Given the description of an element on the screen output the (x, y) to click on. 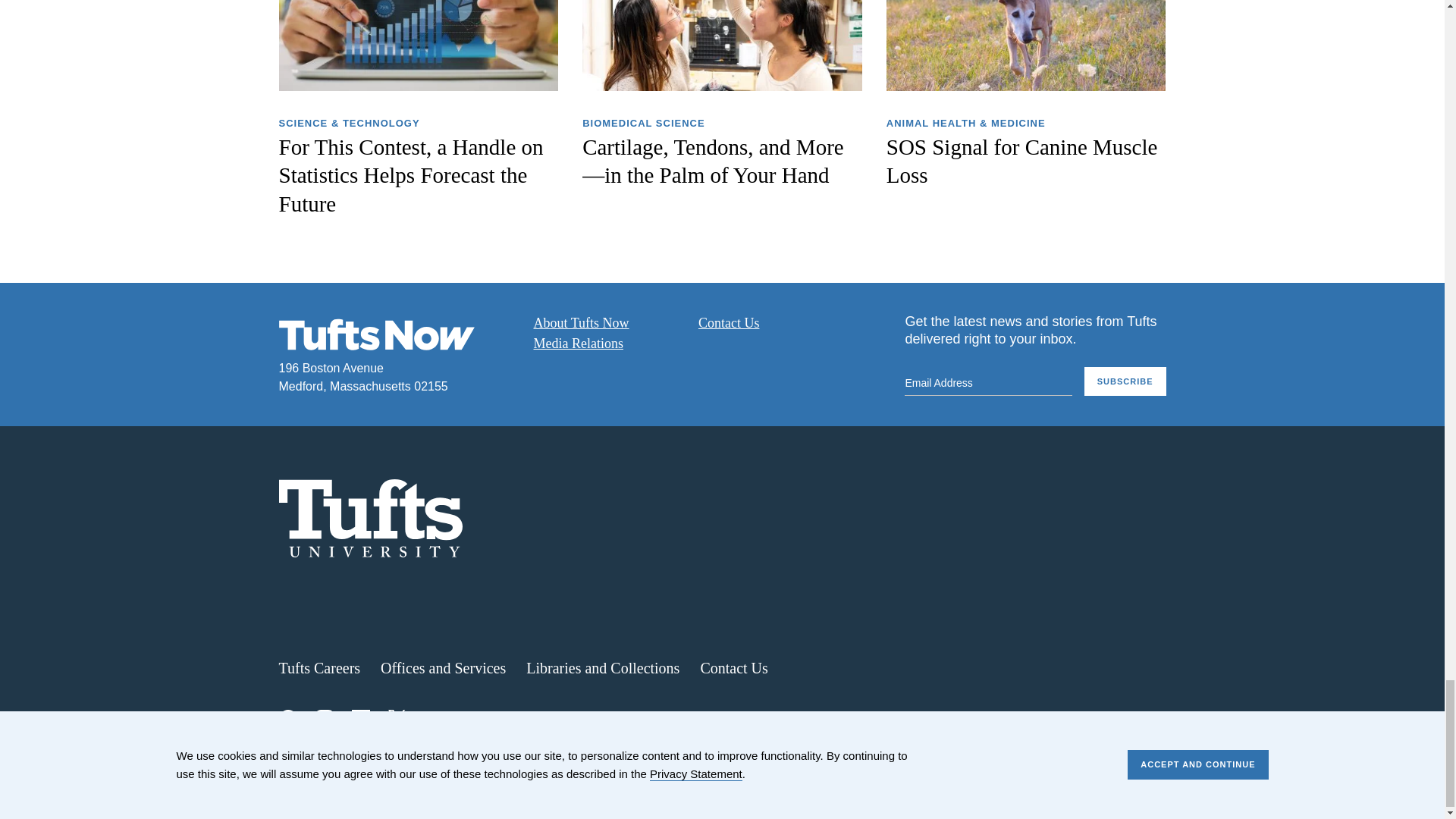
Subscribe (1125, 381)
